Given the description of an element on the screen output the (x, y) to click on. 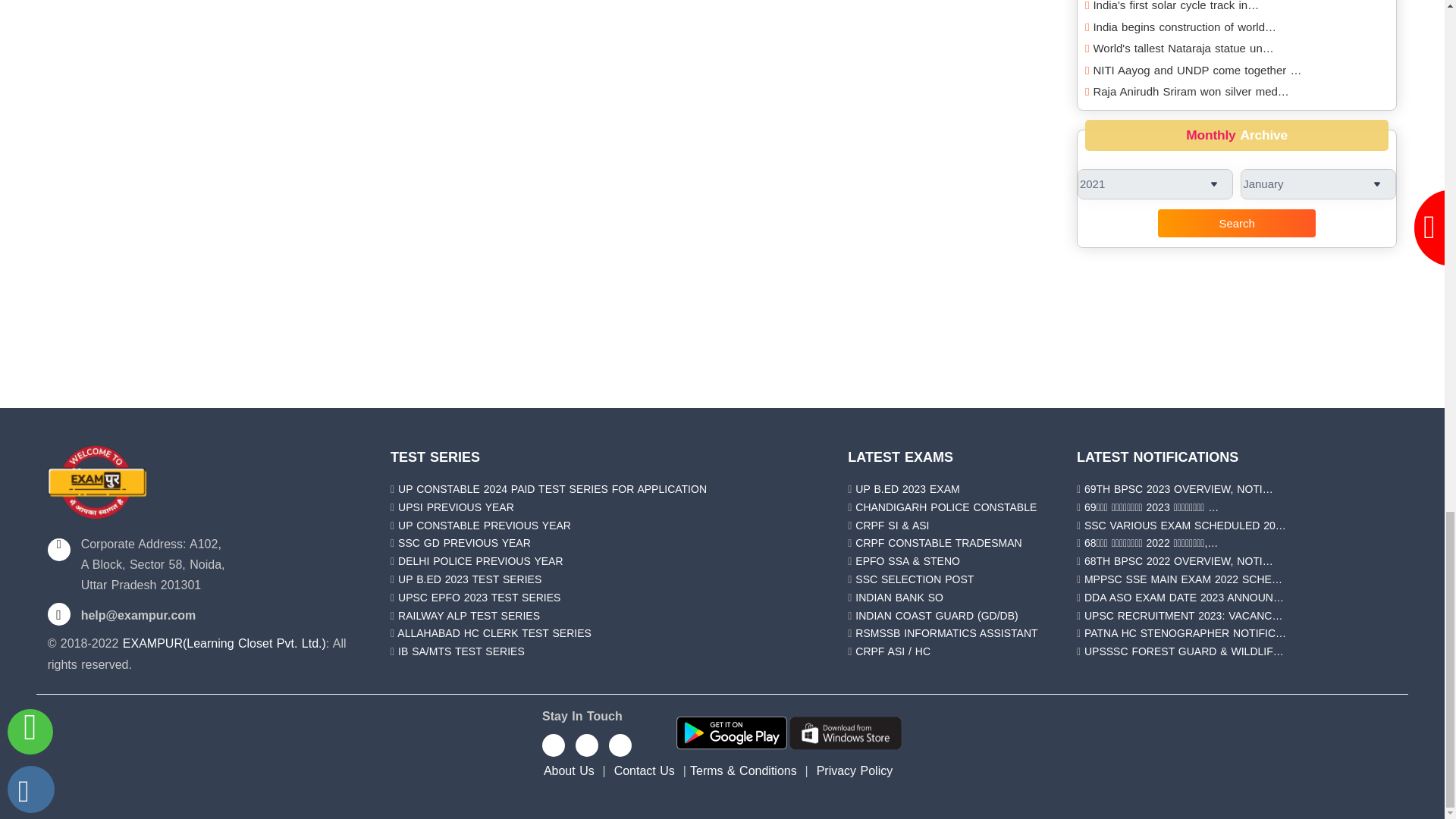
MPPSC SSE MAIN EXAM 2022 SCHEDULE: GET YOUR ADMIT CARD (1183, 579)
SSC VARIOUS EXAM SCHEDULED 2022: CHECK YOUR EXAM DATE HERE (1184, 525)
DDA ASO EXAM DATE 2023 ANNOUNCED: ADMIT CARD DETAILS (1184, 597)
